Given the description of an element on the screen output the (x, y) to click on. 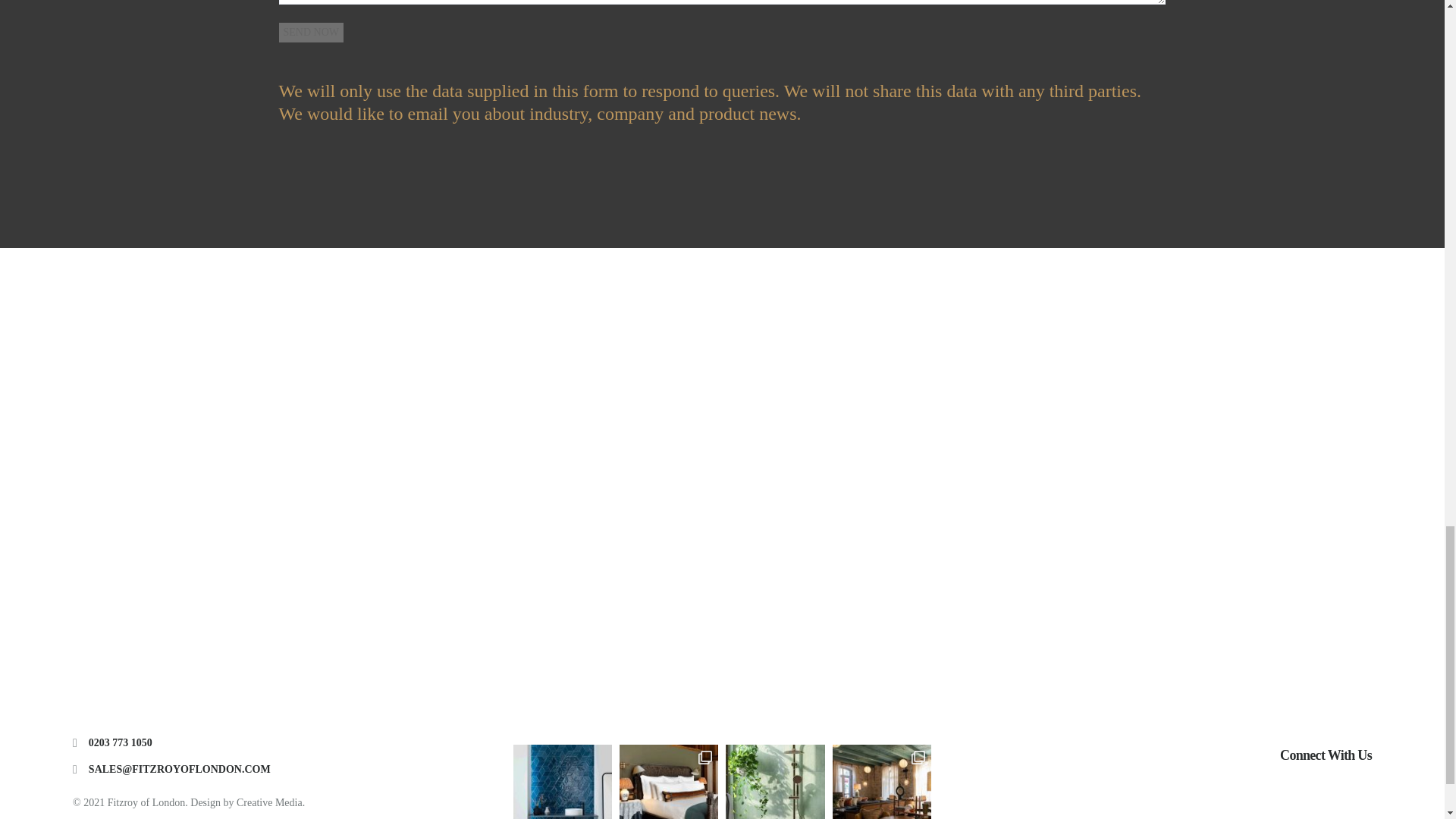
SEND NOW (311, 32)
0203 773 1050 (120, 742)
SEND NOW (311, 32)
